Given the description of an element on the screen output the (x, y) to click on. 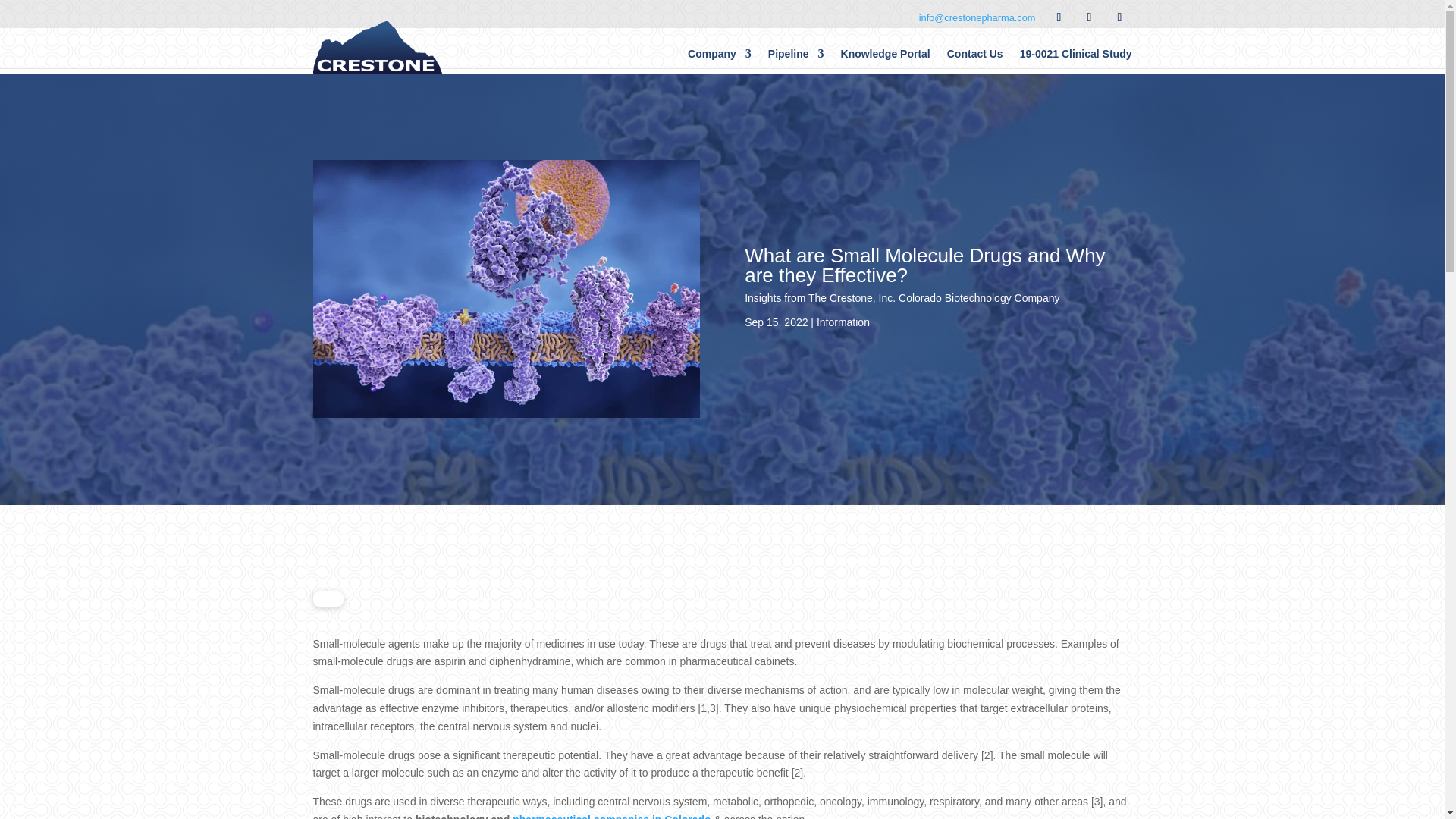
Information (842, 322)
Follow on X (1088, 16)
membrane-proteins (505, 288)
19-0021 Clinical Study (1076, 53)
Knowledge Portal (885, 53)
Company (719, 53)
Contact Us (975, 53)
Follow on Facebook (1058, 16)
Pipeline (796, 53)
pharmaceutical companies in Colorado (611, 816)
